Given the description of an element on the screen output the (x, y) to click on. 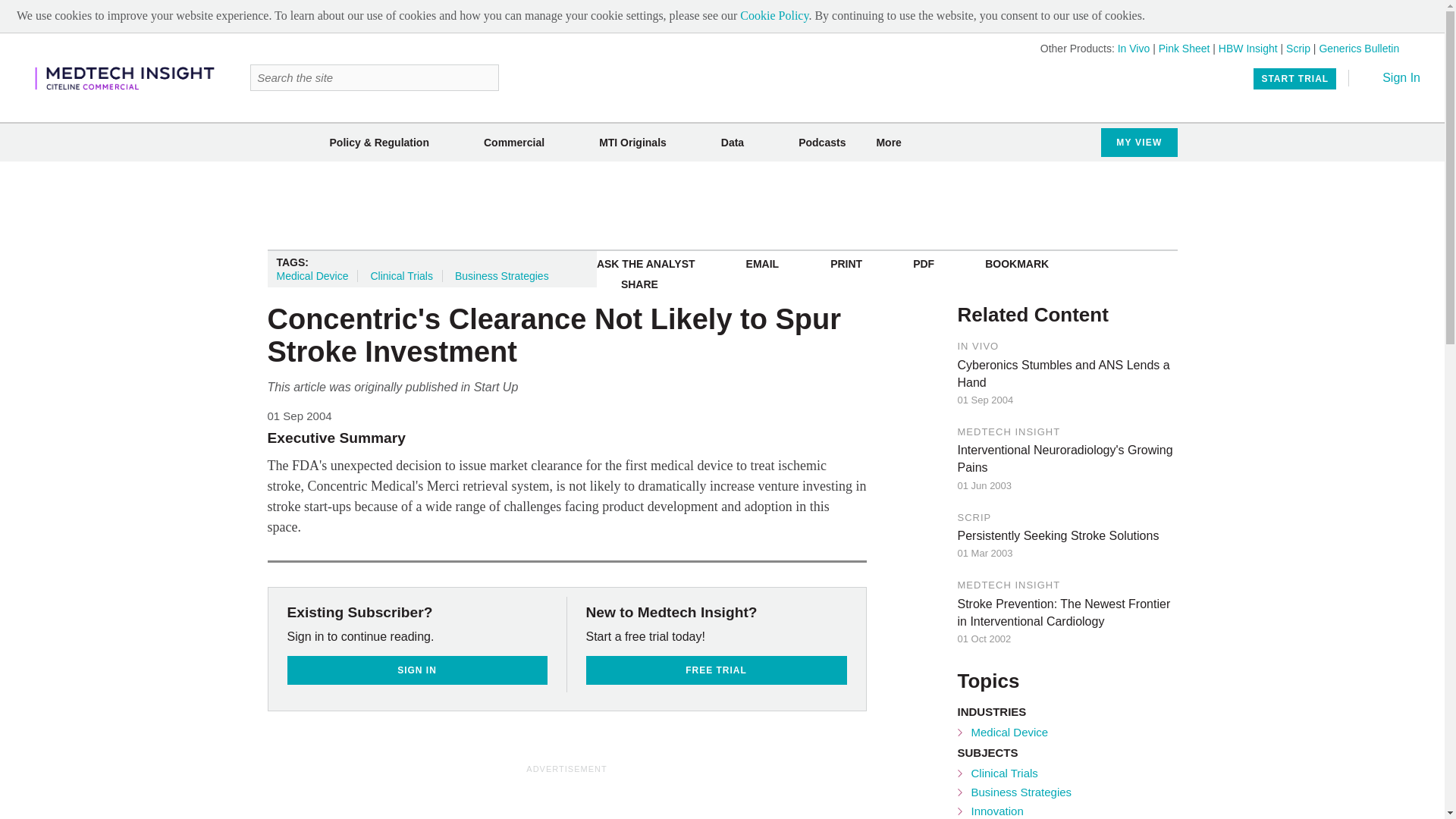
Commercial (513, 142)
3rd party ad content (634, 797)
Scrip (1297, 48)
Generics Bulletin (1359, 48)
Cookie Policy (773, 15)
3rd party ad content (721, 205)
HBW Insight (1248, 48)
In Vivo (1134, 48)
START TRIAL (1294, 78)
Pink Sheet (1183, 48)
Sign In (1391, 77)
